Given the description of an element on the screen output the (x, y) to click on. 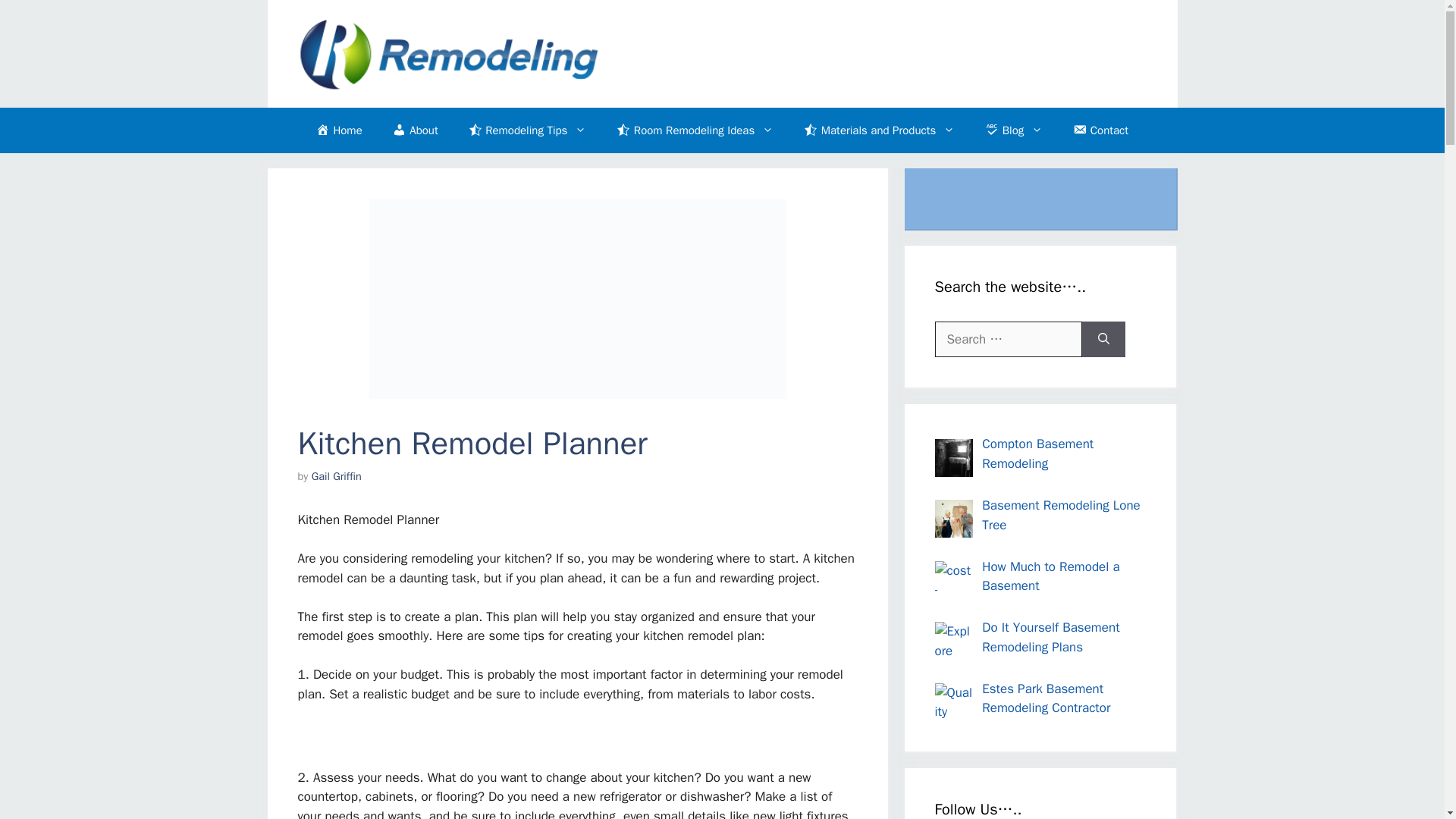
View all posts by Gail Griffin (336, 476)
Remodeling Tips (527, 130)
Home (339, 130)
Kitchen Remodel Planner 1 (577, 298)
About (414, 130)
